Given the description of an element on the screen output the (x, y) to click on. 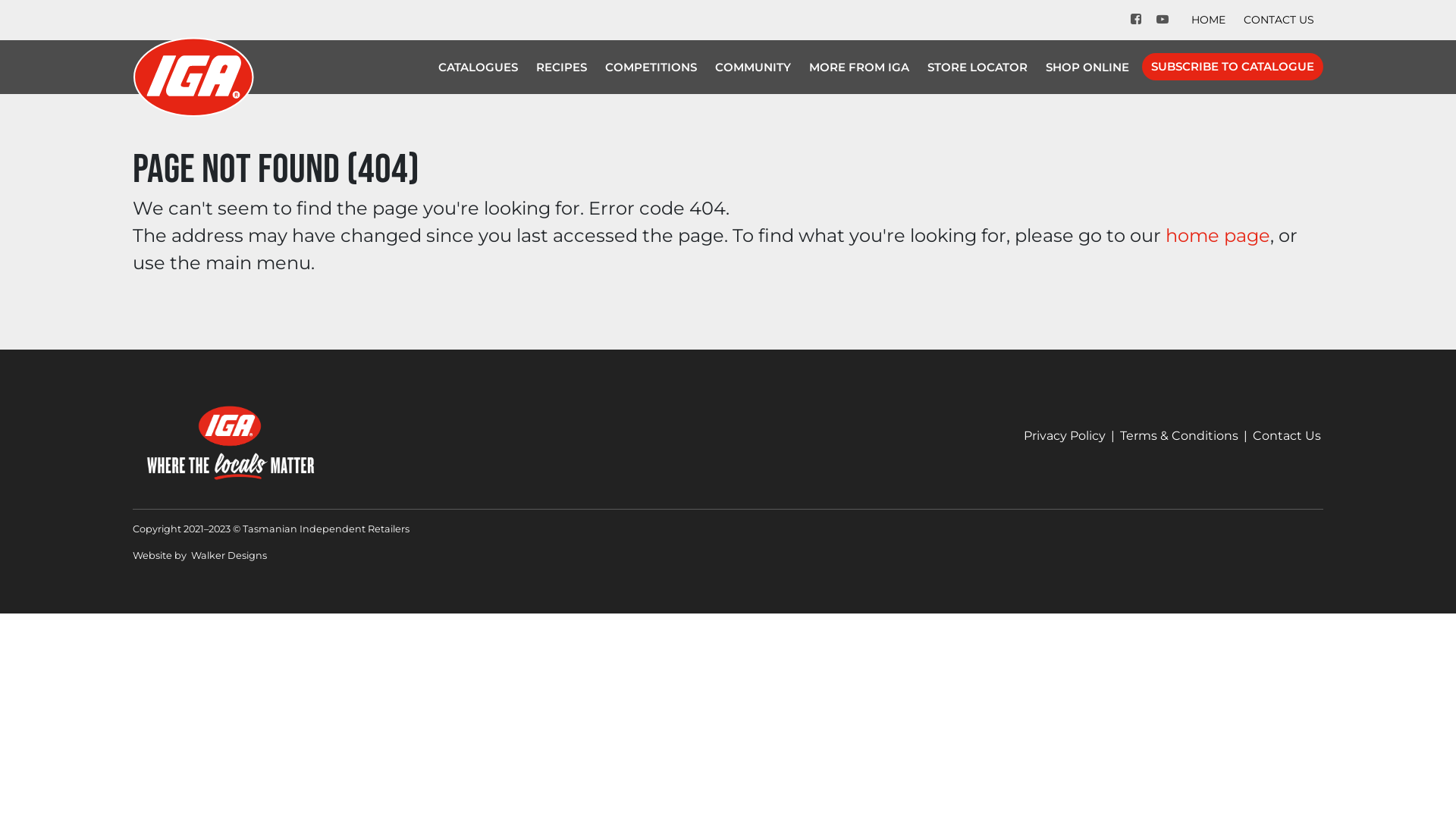
home page Element type: text (1217, 235)
RECIPES Element type: text (561, 67)
MORE FROM IGA Element type: text (859, 67)
SHOP ONLINE Element type: text (1087, 67)
COMMUNITY Element type: text (753, 67)
Contact Us Element type: text (1286, 435)
CATALOGUES Element type: text (478, 67)
Privacy Policy Element type: text (1064, 435)
STORE LOCATOR Element type: text (977, 67)
Walker Designs Element type: text (228, 555)
Terms & Conditions Element type: text (1178, 435)
CONTACT US Element type: text (1278, 20)
SUBSCRIBE TO CATALOGUE Element type: text (1232, 66)
COMPETITIONS Element type: text (651, 67)
HOME Element type: text (1208, 20)
